Given the description of an element on the screen output the (x, y) to click on. 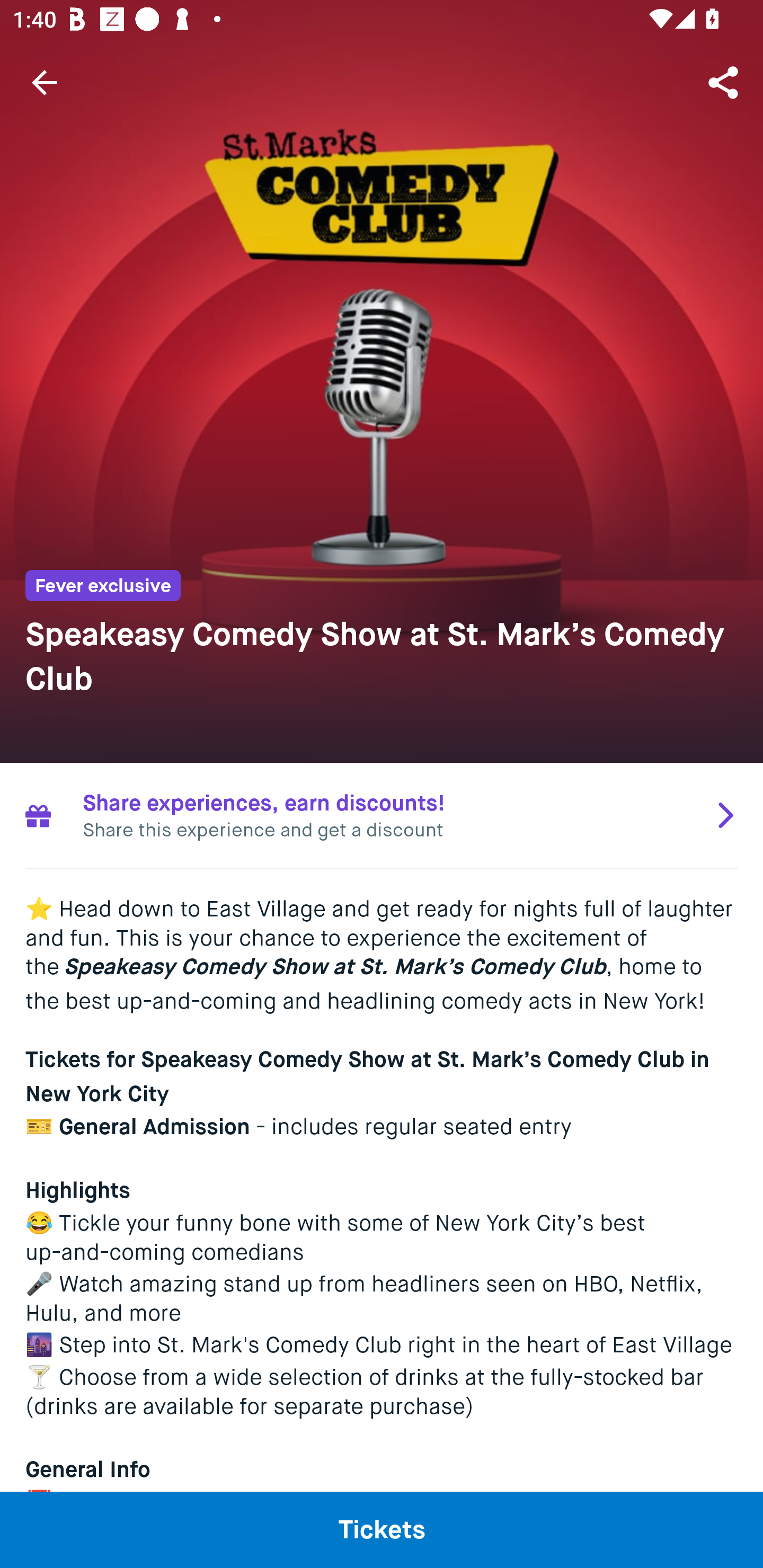
Navigate up (44, 82)
Share (724, 81)
Tickets (381, 1529)
